Given the description of an element on the screen output the (x, y) to click on. 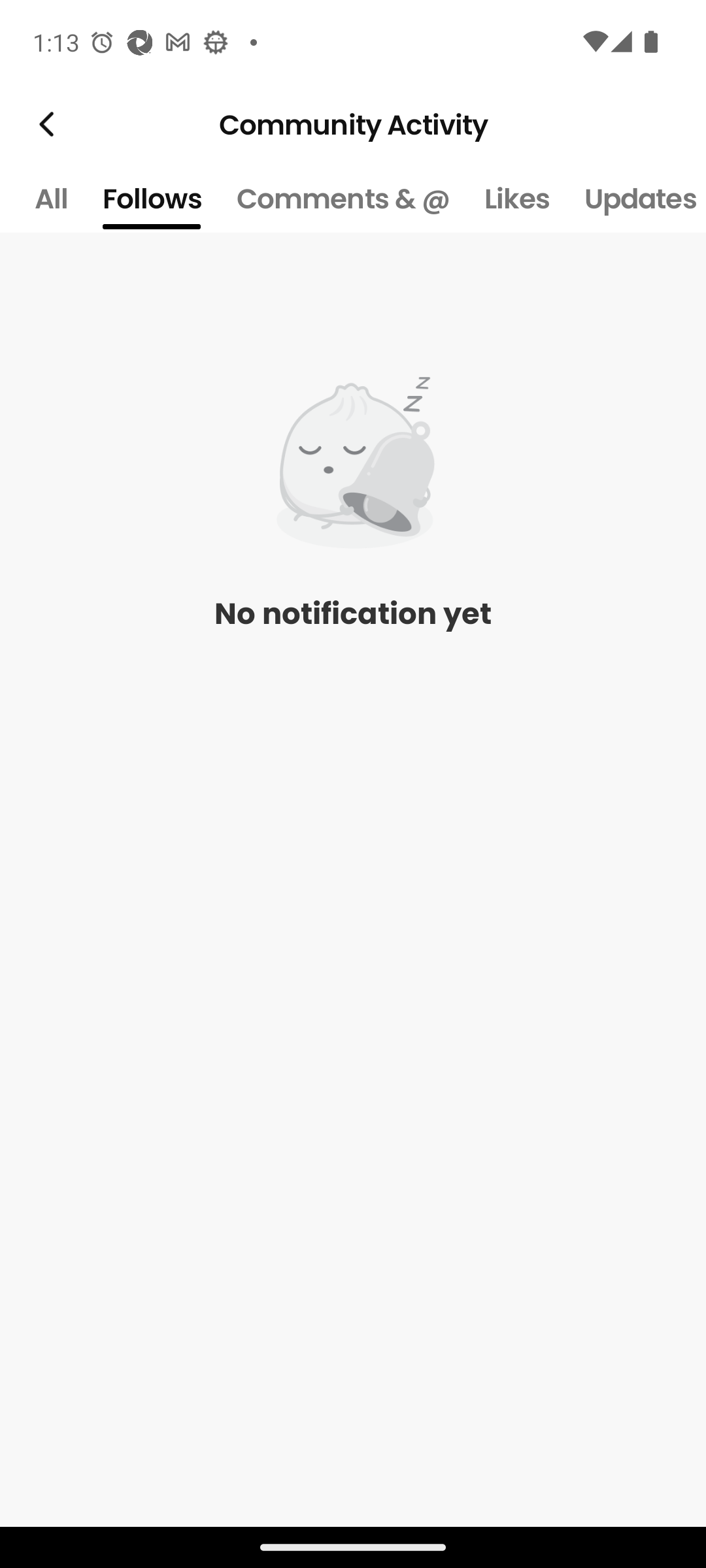
All (50, 199)
Follows (151, 199)
Comments & @ (342, 199)
Likes (516, 199)
Updates (636, 199)
